Given the description of an element on the screen output the (x, y) to click on. 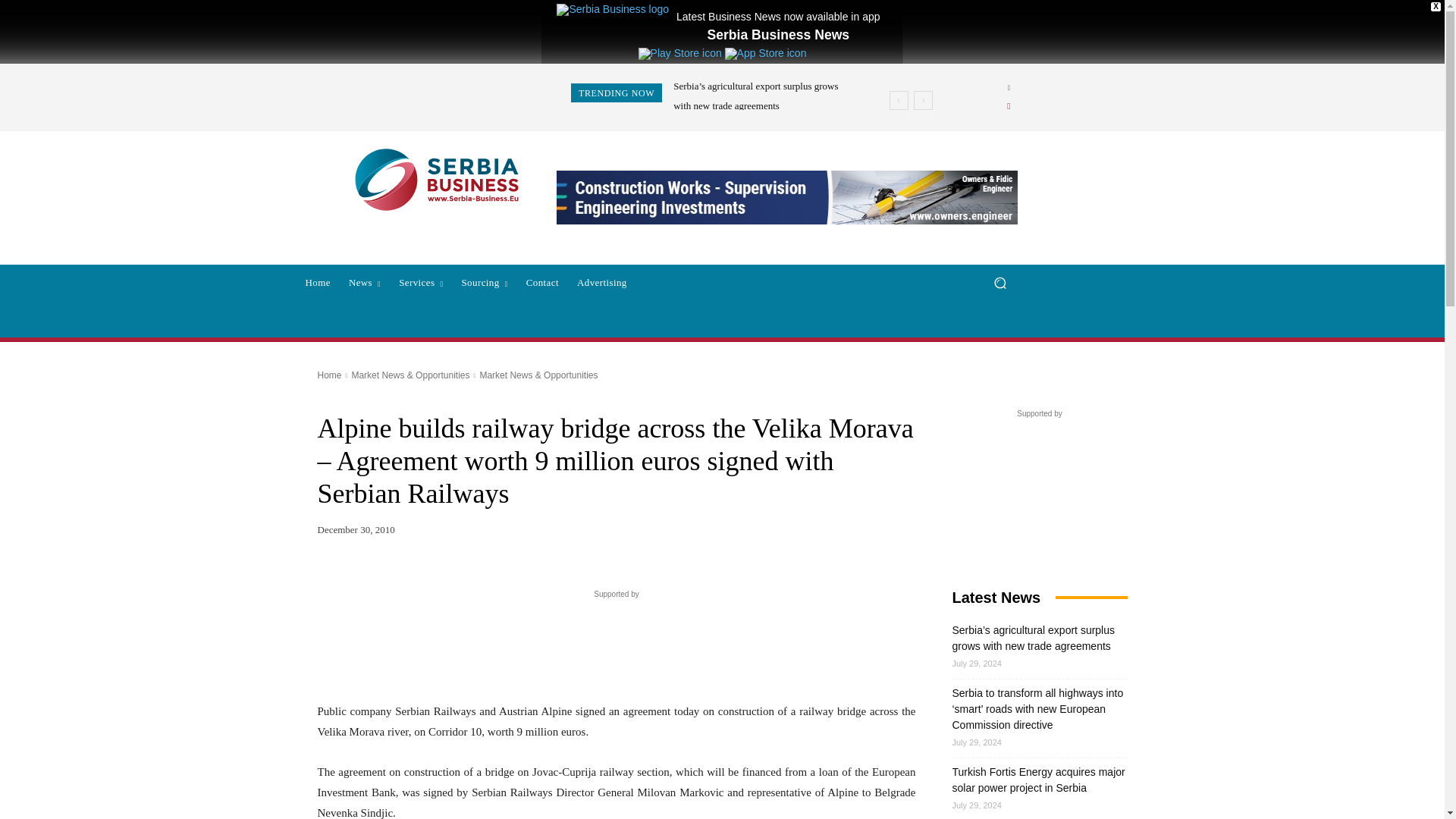
Sourcing (483, 282)
Twitter (1007, 106)
Linkedin (1007, 87)
Services (420, 282)
Home (317, 282)
News (364, 282)
Advertising (601, 282)
Contact (541, 282)
